Given the description of an element on the screen output the (x, y) to click on. 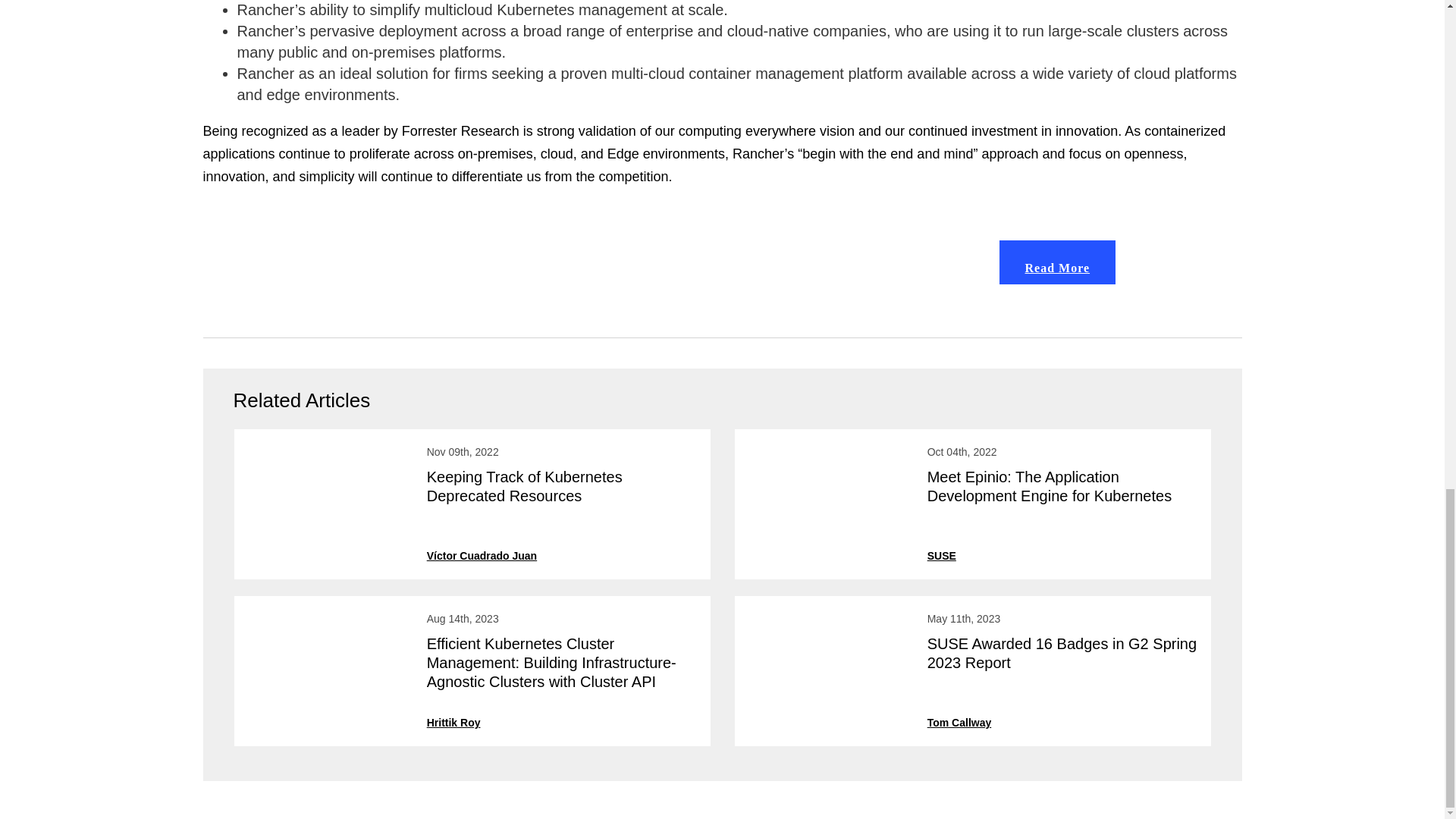
Posts by Hrittik Roy (453, 722)
Posts by Tom Callway (959, 722)
Posts by SUSE (941, 555)
